Given the description of an element on the screen output the (x, y) to click on. 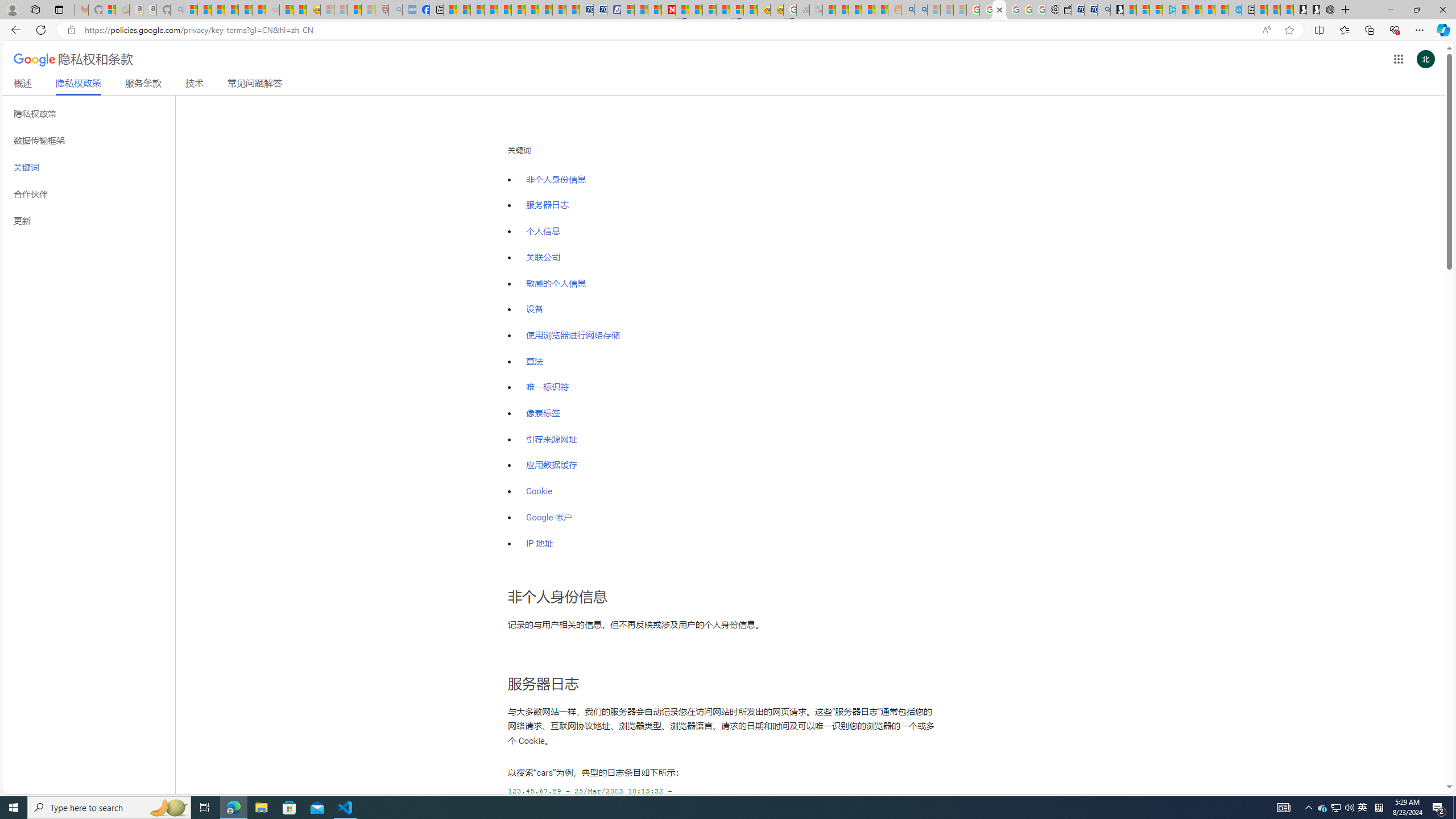
Newsweek - News, Analysis, Politics, Business, Technology (667, 9)
Utah sues federal government - Search (920, 9)
